Given the description of an element on the screen output the (x, y) to click on. 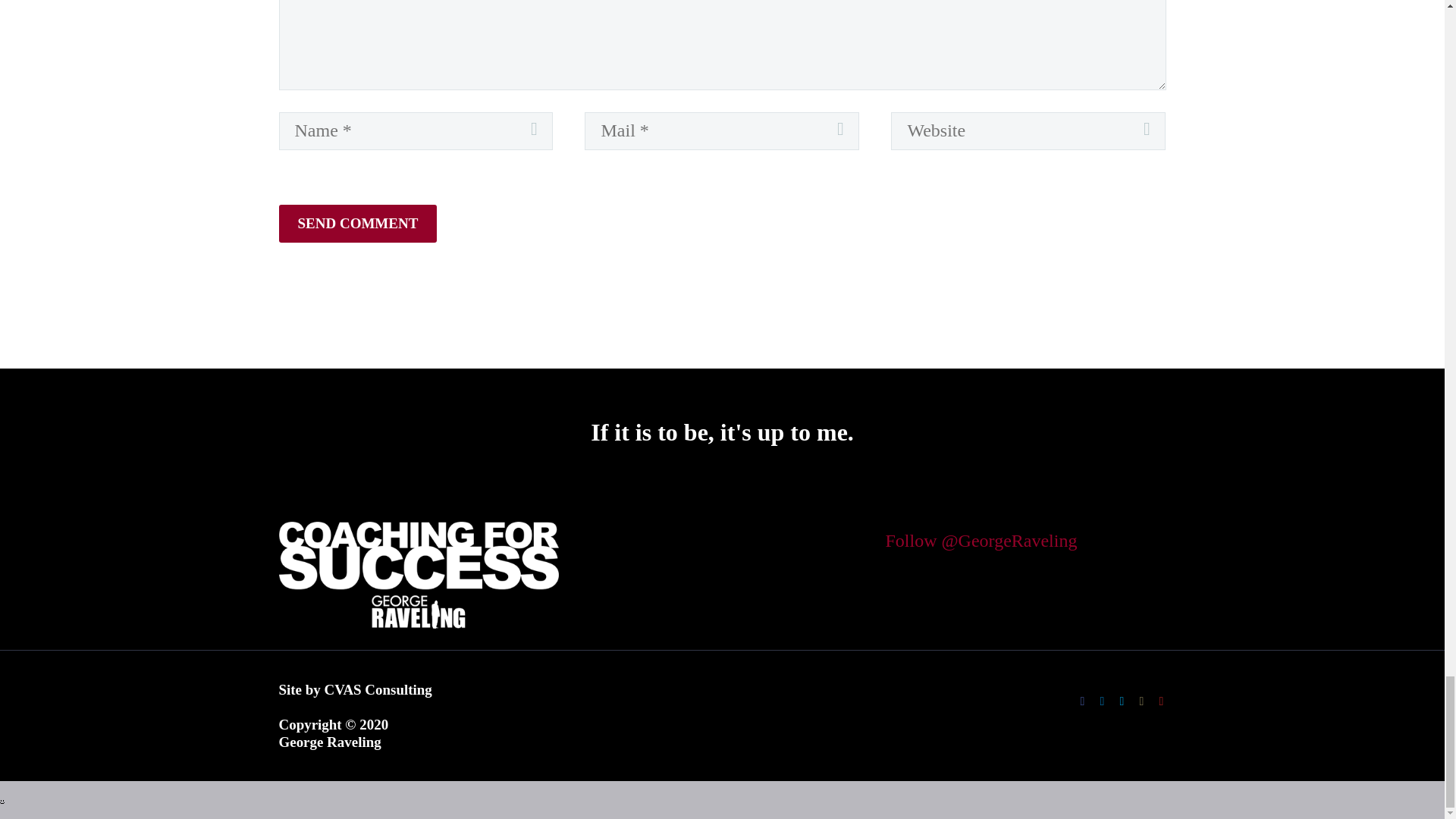
Twitter (1122, 701)
Facebook (1083, 701)
LinkedIn (1102, 701)
